Given the description of an element on the screen output the (x, y) to click on. 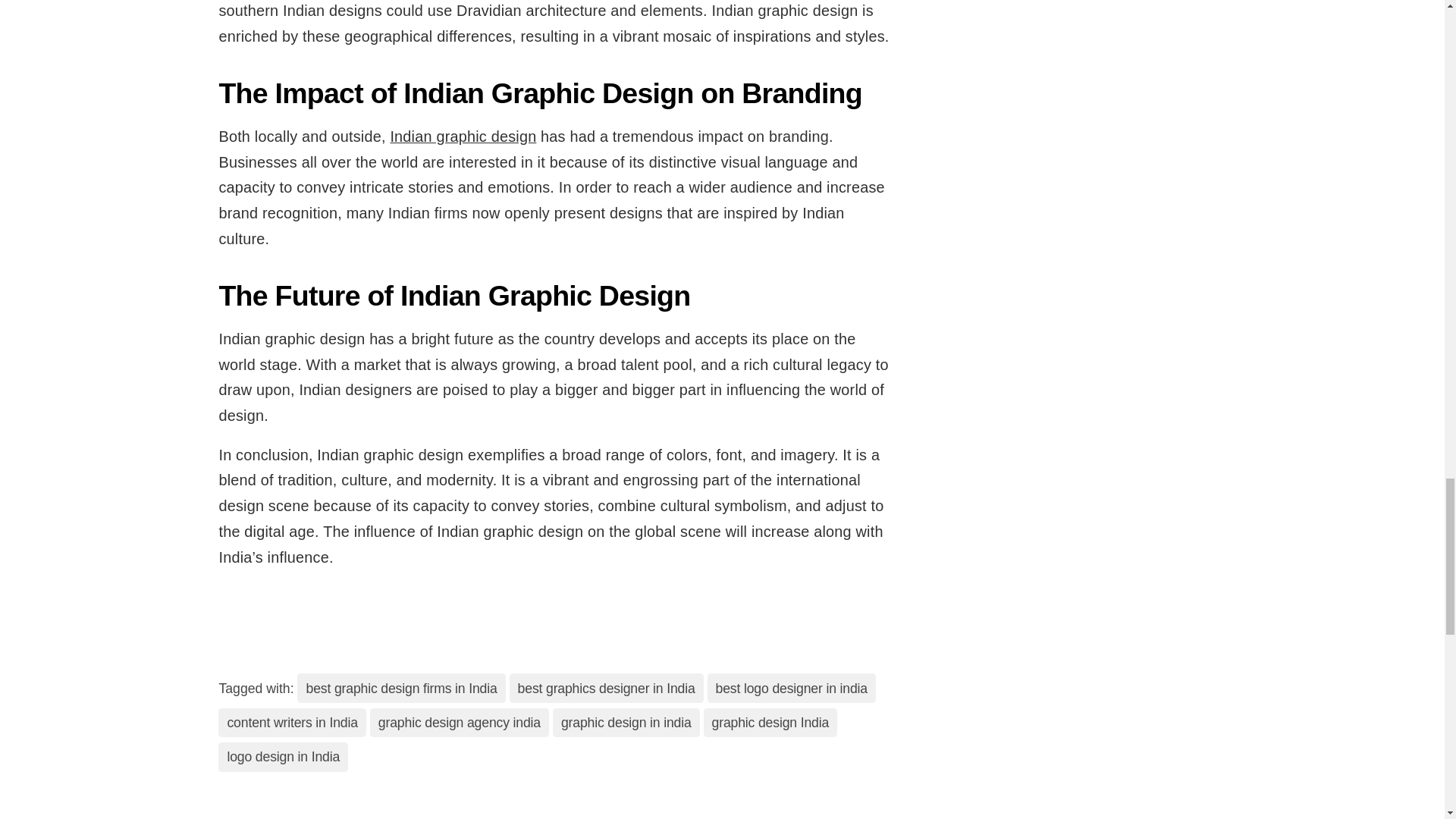
best graphics designer in India (606, 687)
graphic design in india (626, 722)
graphic design India (770, 722)
best graphic design firms in India (401, 687)
Indian graphic design (462, 135)
best logo designer in india (791, 687)
content writers in India (291, 722)
logo design in India (282, 757)
graphic design agency india (458, 722)
